Given the description of an element on the screen output the (x, y) to click on. 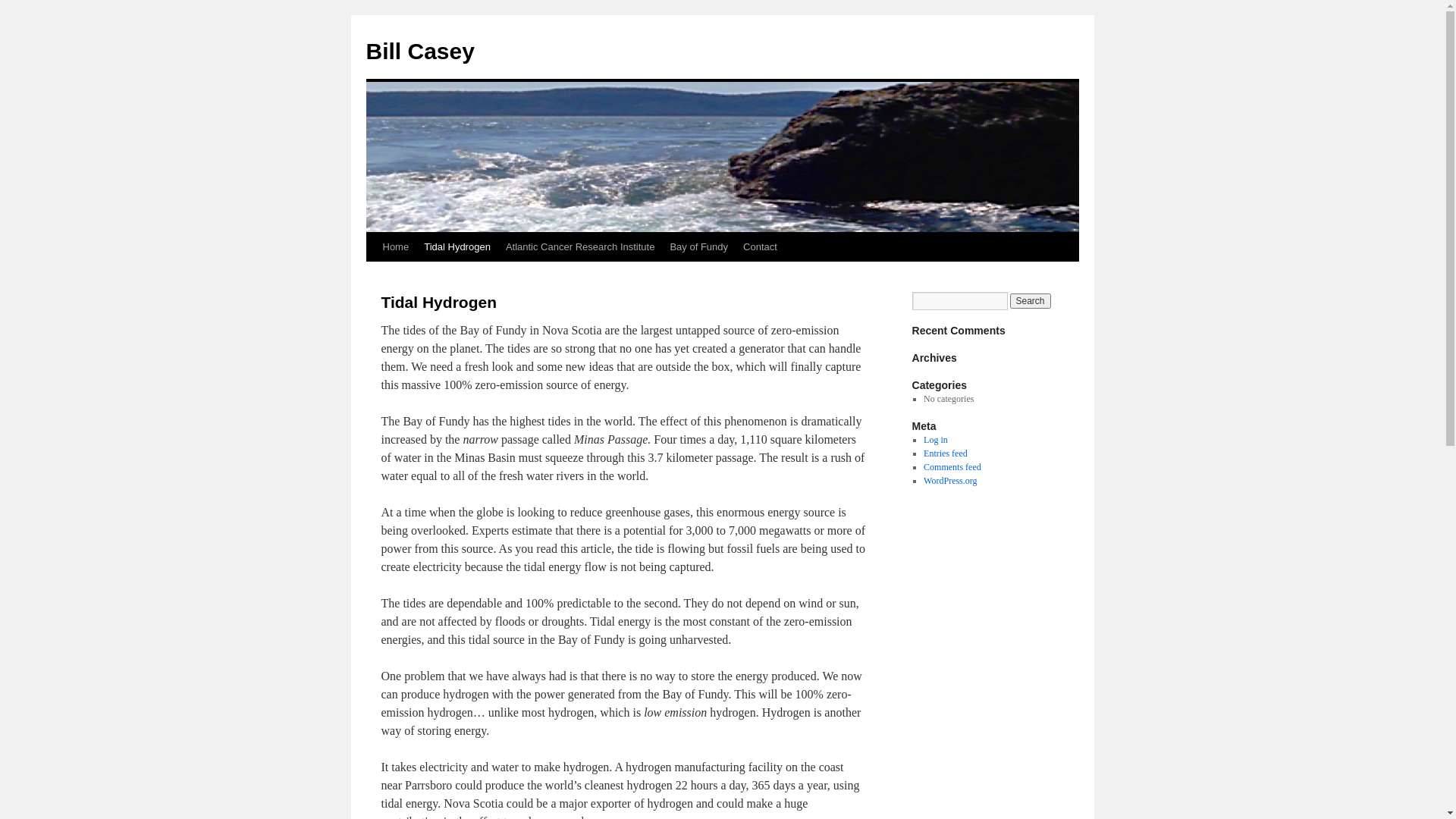
WordPress.org Element type: text (949, 480)
Entries feed Element type: text (945, 453)
Contact Element type: text (759, 246)
Home Element type: text (395, 246)
Atlantic Cancer Research Institute Element type: text (580, 246)
Bay of Fundy Element type: text (698, 246)
Tidal Hydrogen Element type: text (457, 246)
Bill Casey Element type: text (419, 50)
Log in Element type: text (935, 439)
Search Element type: text (1030, 300)
Comments feed Element type: text (952, 466)
Skip to content Element type: text (372, 275)
